Given the description of an element on the screen output the (x, y) to click on. 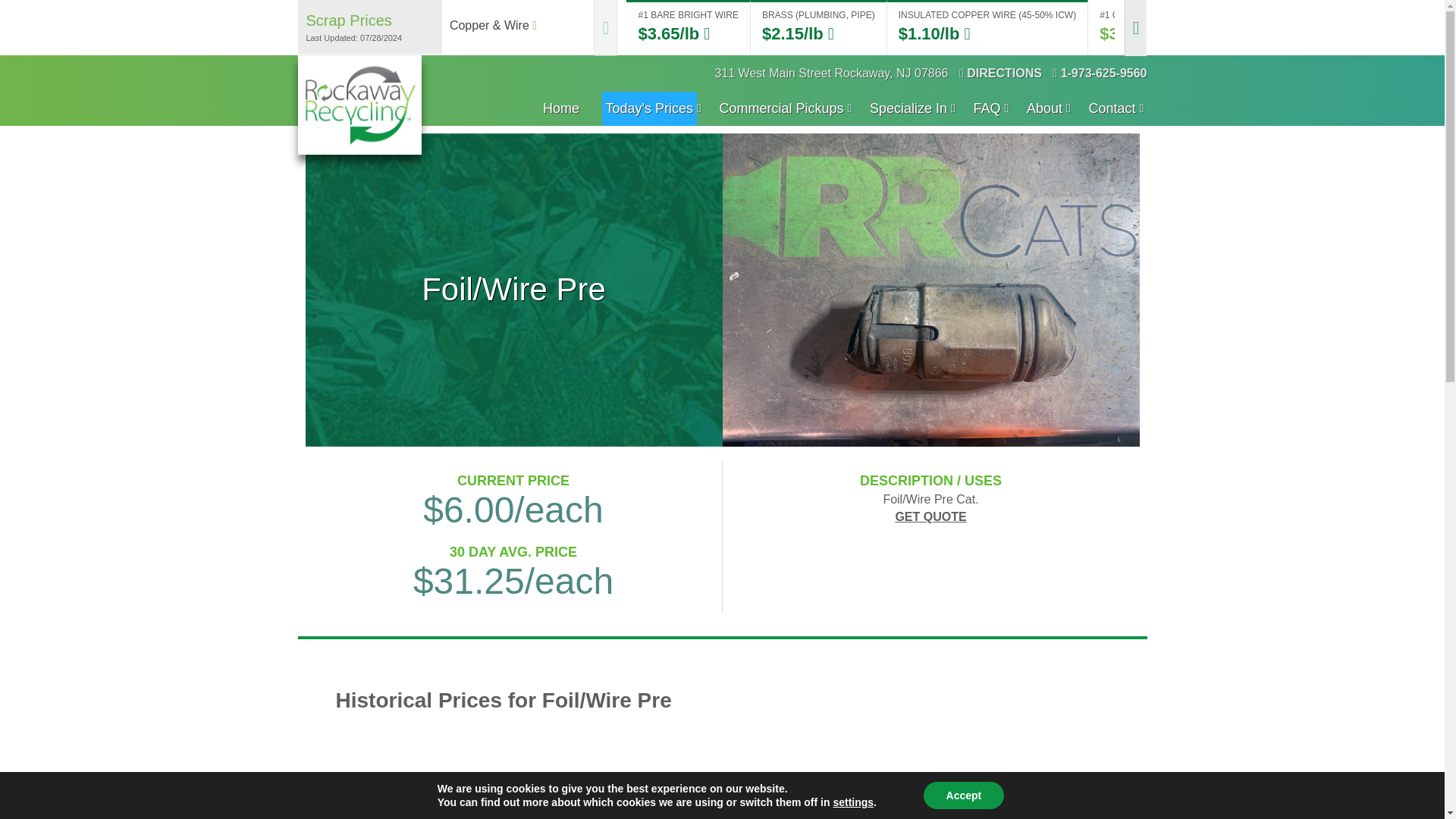
Home (560, 108)
Commercial Pickups (780, 108)
1-973-625-9560 (1099, 73)
Today's Prices (649, 108)
DIRECTIONS (1000, 73)
